Given the description of an element on the screen output the (x, y) to click on. 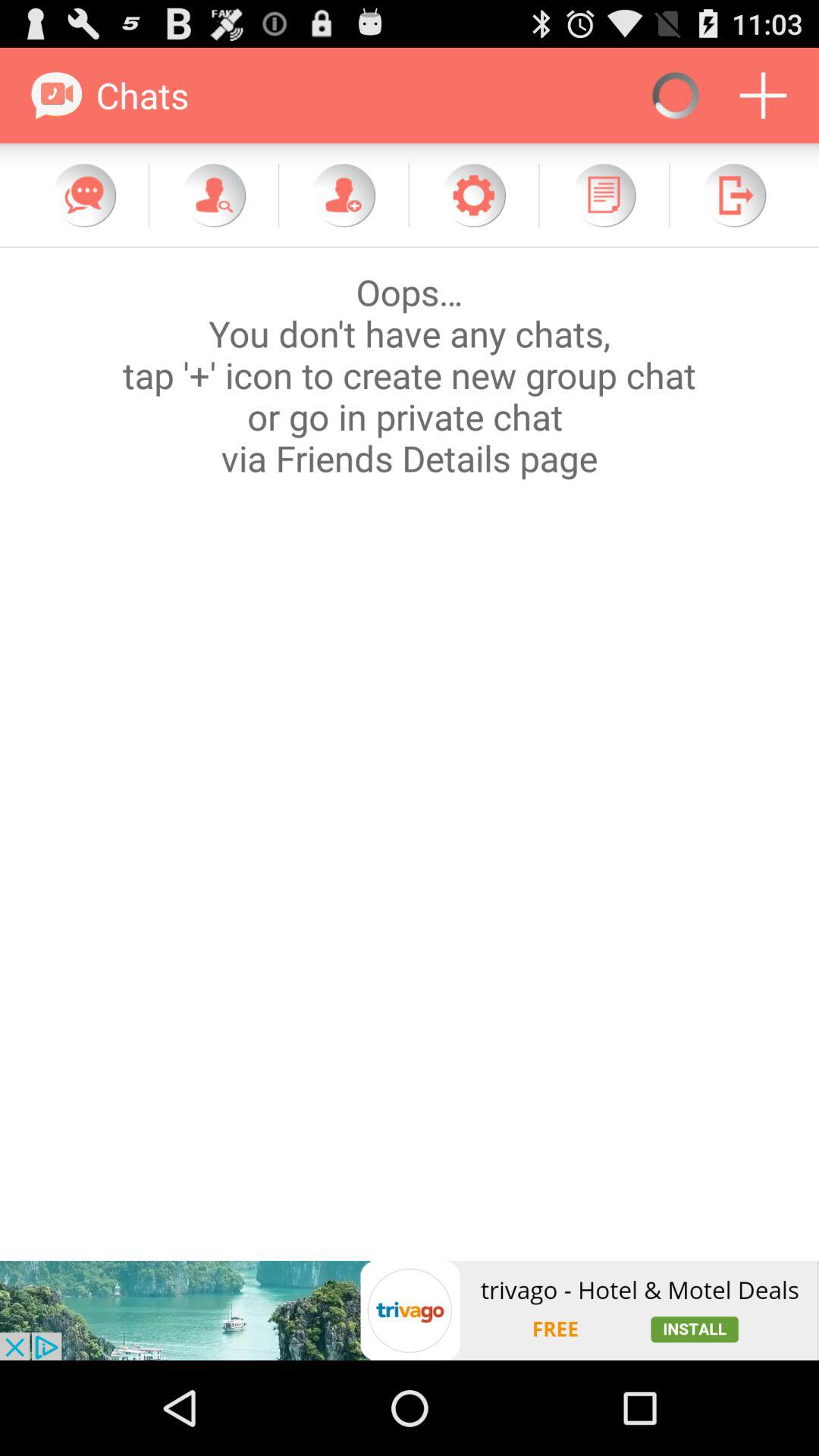
settings (473, 194)
